Given the description of an element on the screen output the (x, y) to click on. 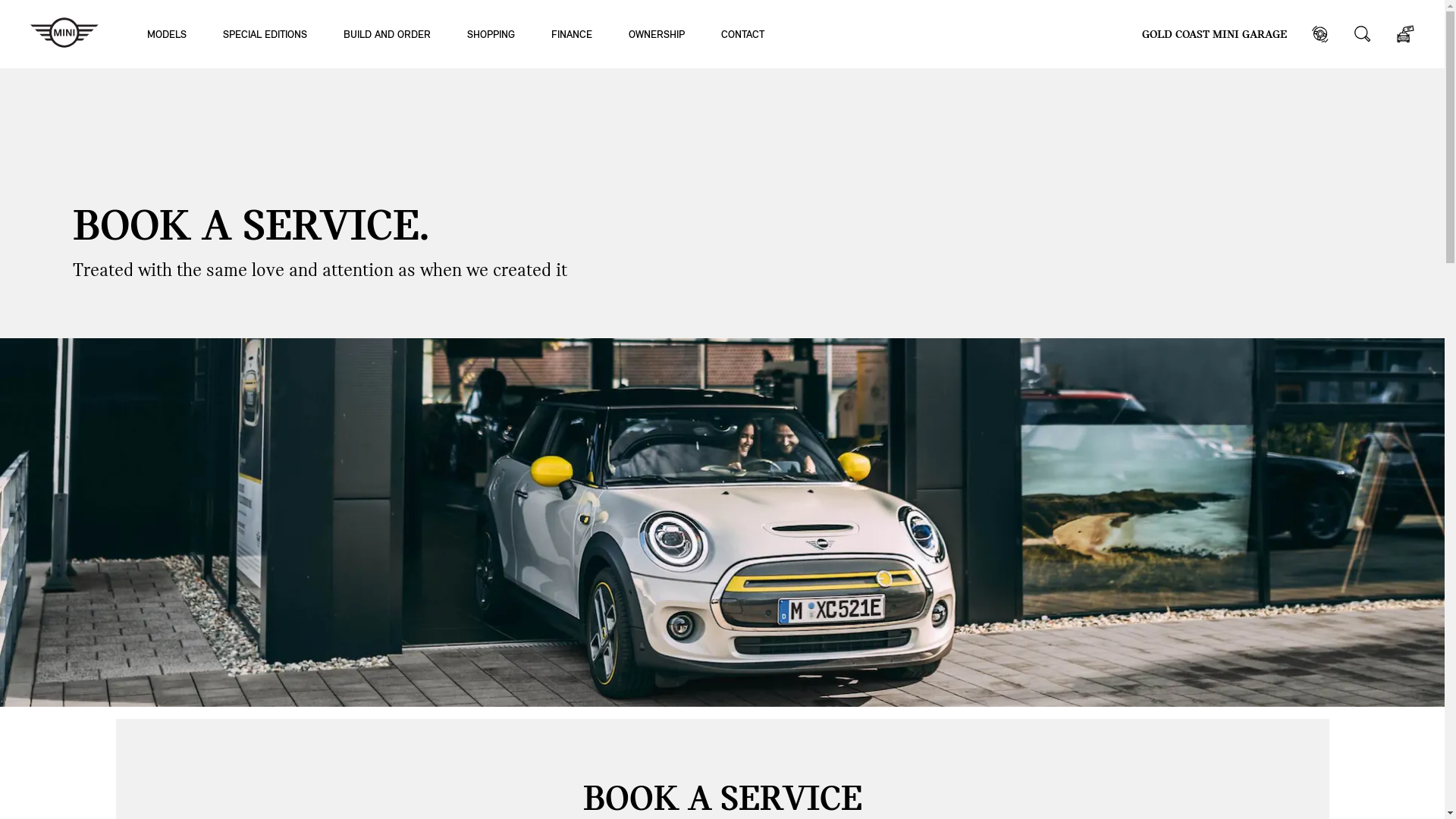
BUILD AND ORDER Element type: text (386, 33)
